Given the description of an element on the screen output the (x, y) to click on. 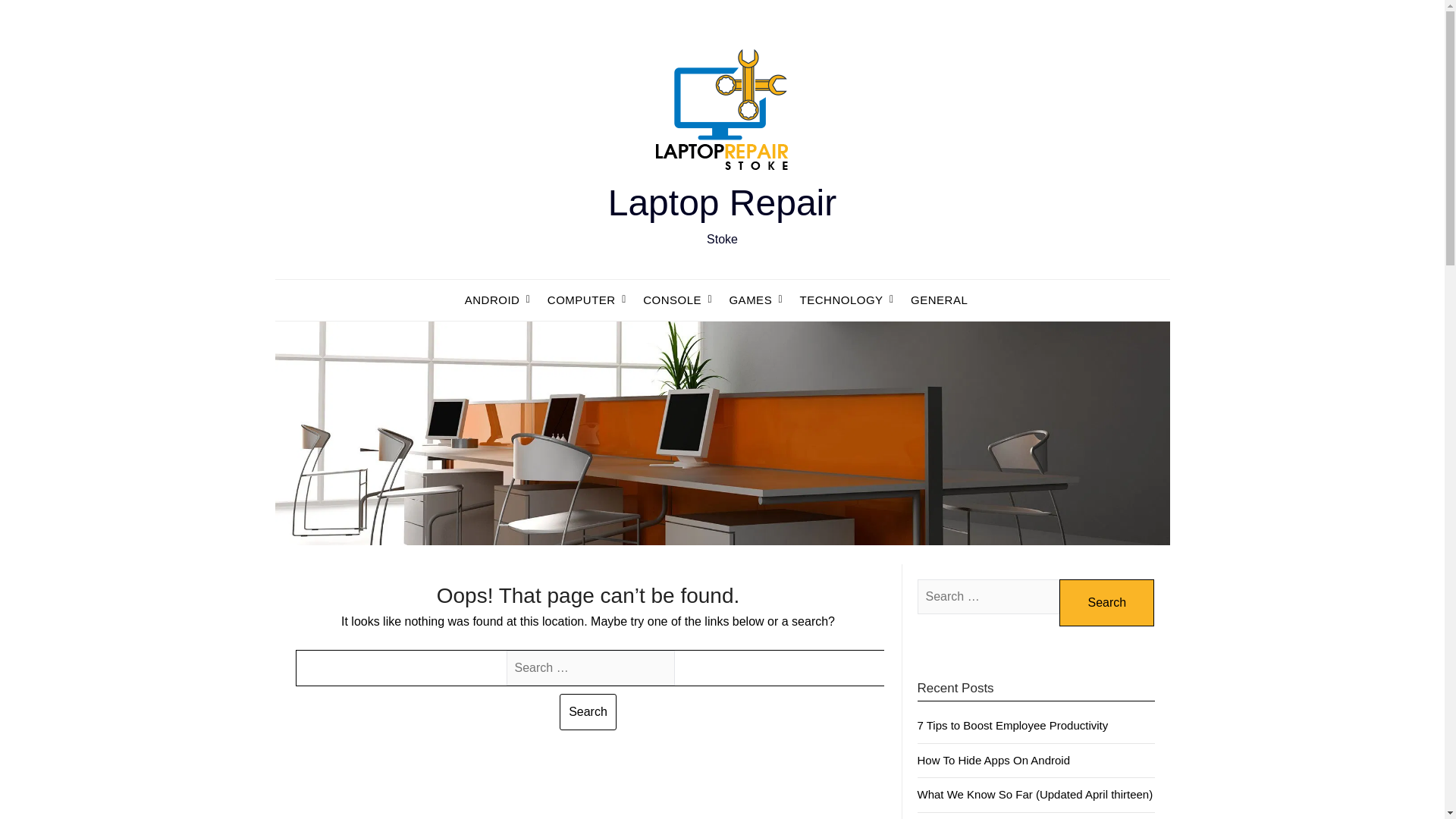
TECHNOLOGY (841, 300)
COMPUTER (581, 300)
Search (587, 711)
GAMES (750, 300)
Search (587, 711)
Search (1106, 602)
Laptop Repair (722, 202)
CONSOLE (671, 300)
Search (1106, 602)
ANDROID (498, 300)
